Given the description of an element on the screen output the (x, y) to click on. 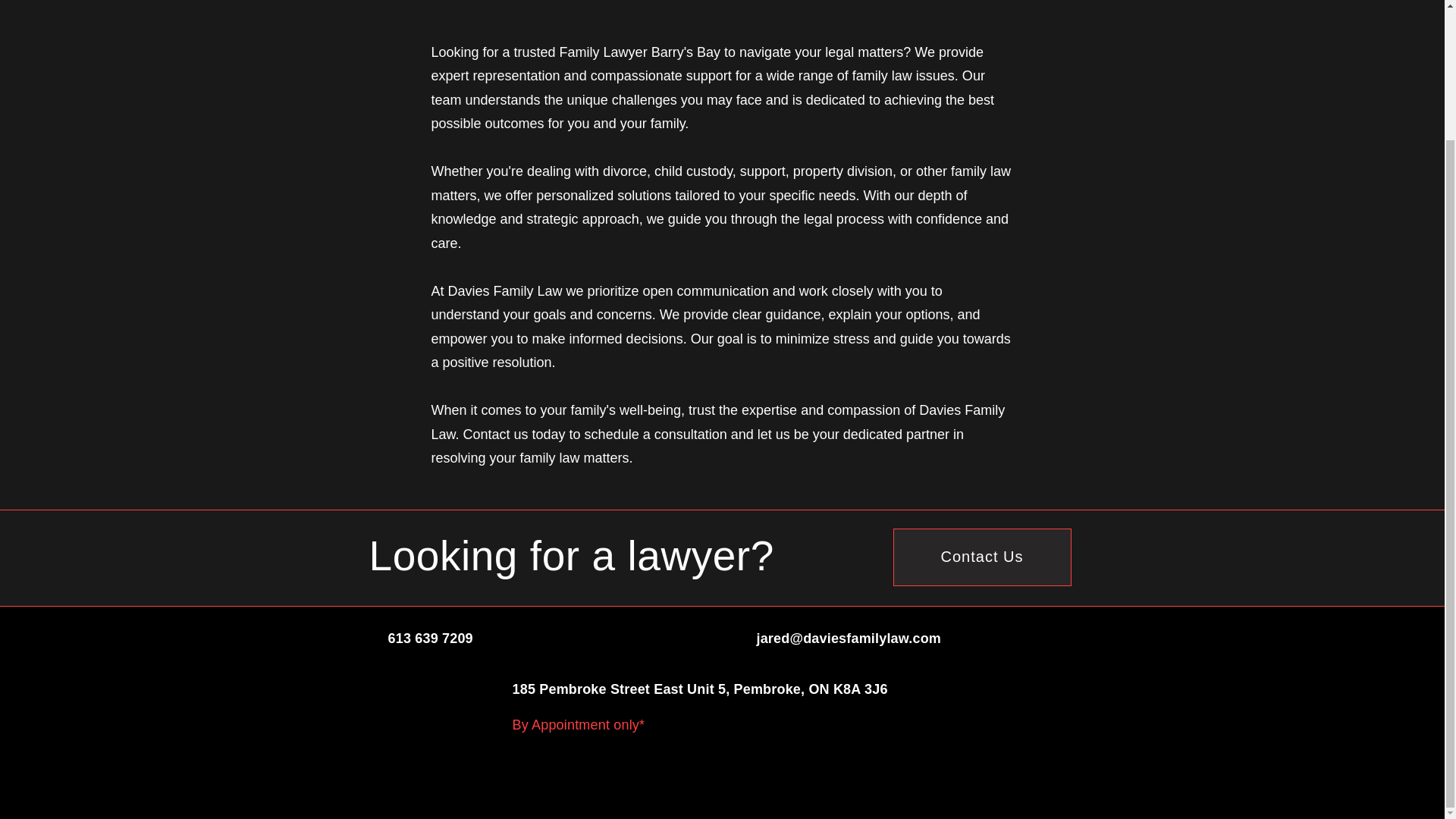
613 639 7209 (430, 638)
Contact Us (982, 557)
